Given the description of an element on the screen output the (x, y) to click on. 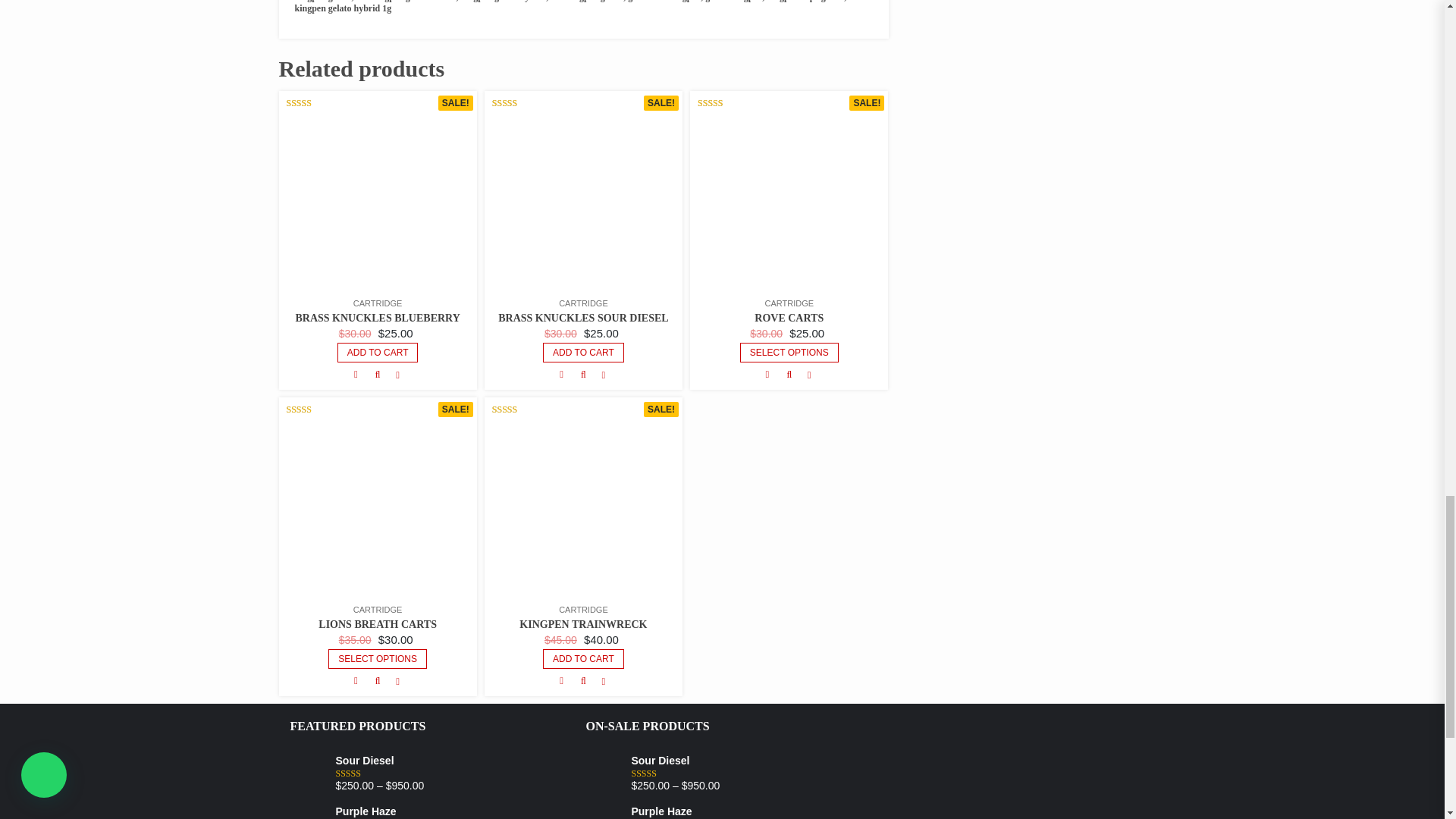
Quick View (787, 374)
Quick View (377, 374)
Quick View (582, 374)
